Given the description of an element on the screen output the (x, y) to click on. 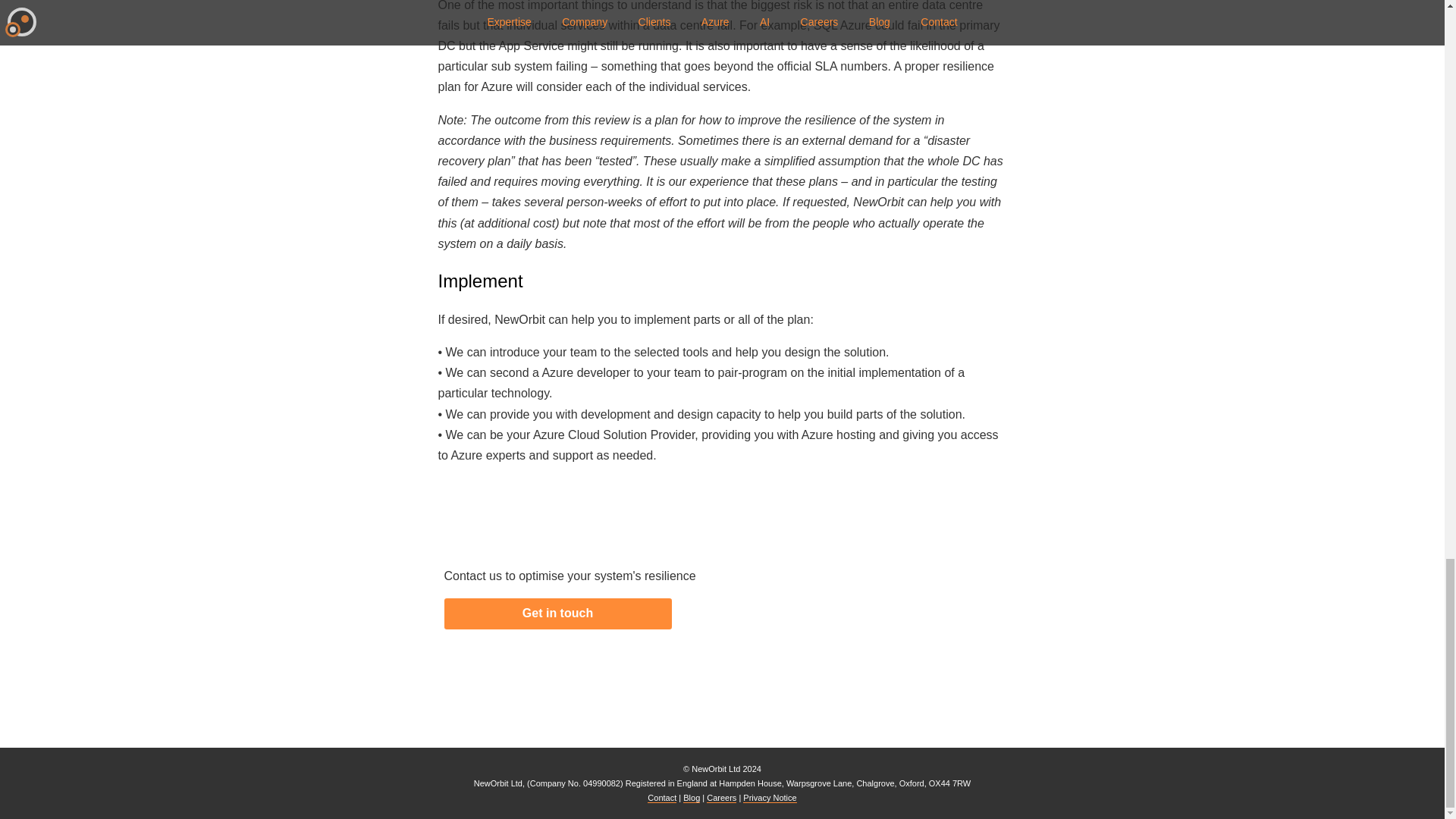
Contact (662, 798)
Get in touch (557, 613)
Careers (721, 798)
Blog (691, 798)
Get in touch (557, 613)
Privacy Notice (769, 798)
